Given the description of an element on the screen output the (x, y) to click on. 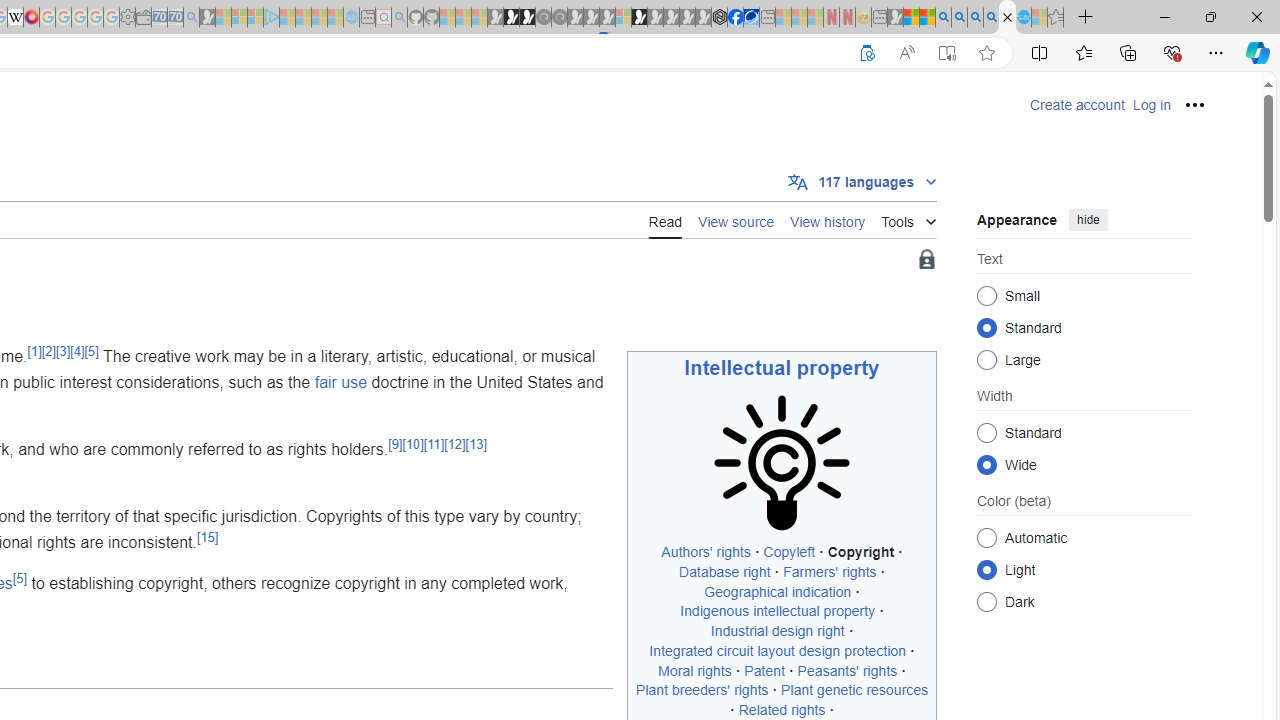
Services - Maintenance | Sky Blue Bikes - Sky Blue Bikes (1023, 17)
Support Wikipedia? (867, 53)
New tab - Sleeping (879, 17)
[5] (19, 578)
Small (986, 295)
Favorites - Sleeping (1055, 17)
Read (665, 219)
